Given the description of an element on the screen output the (x, y) to click on. 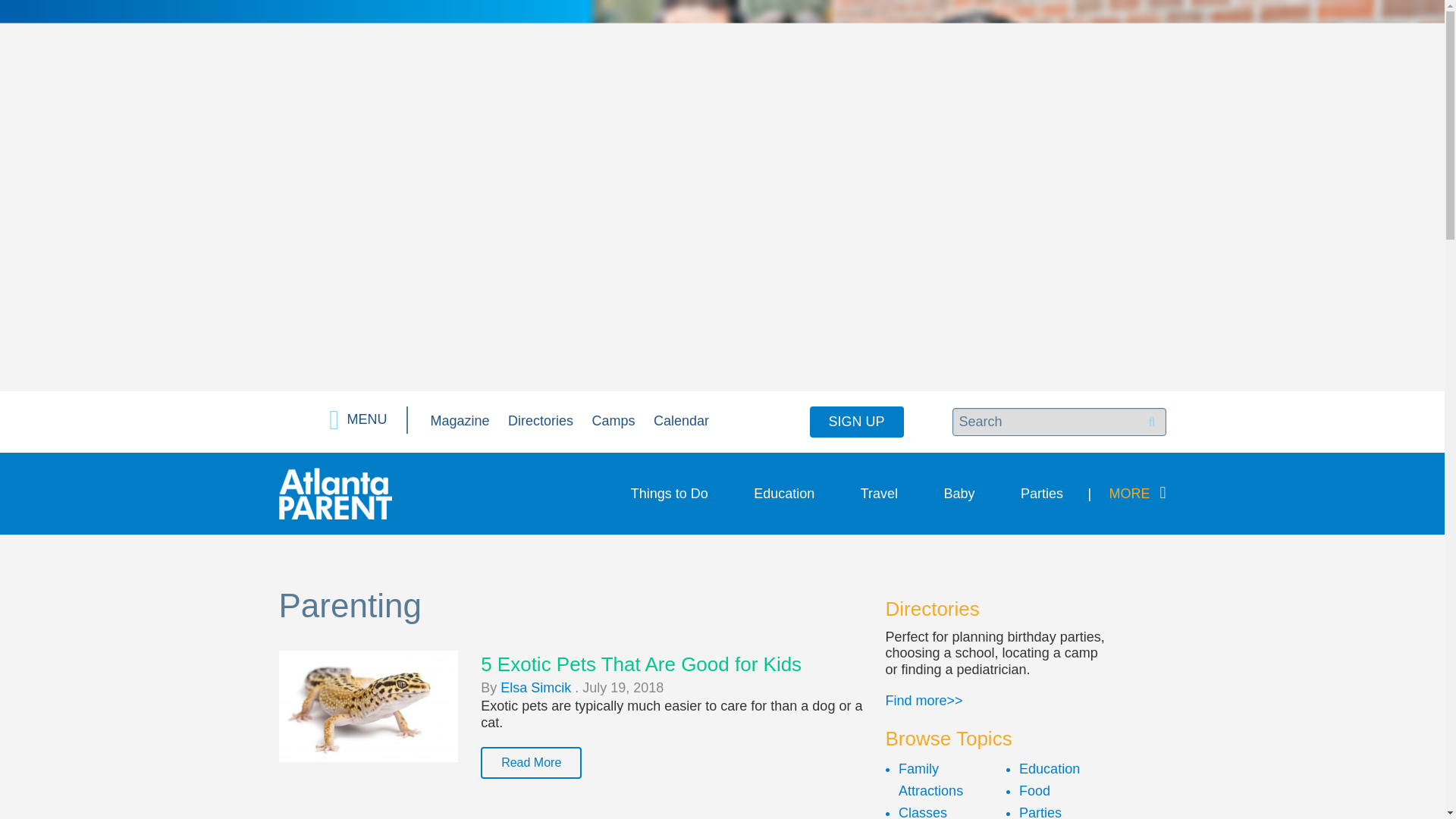
Atlanta Parent (335, 492)
SIGN UP (856, 421)
Directories (540, 420)
Magazine (459, 420)
Calendar (681, 420)
Camps (612, 420)
MENU (358, 420)
